Given the description of an element on the screen output the (x, y) to click on. 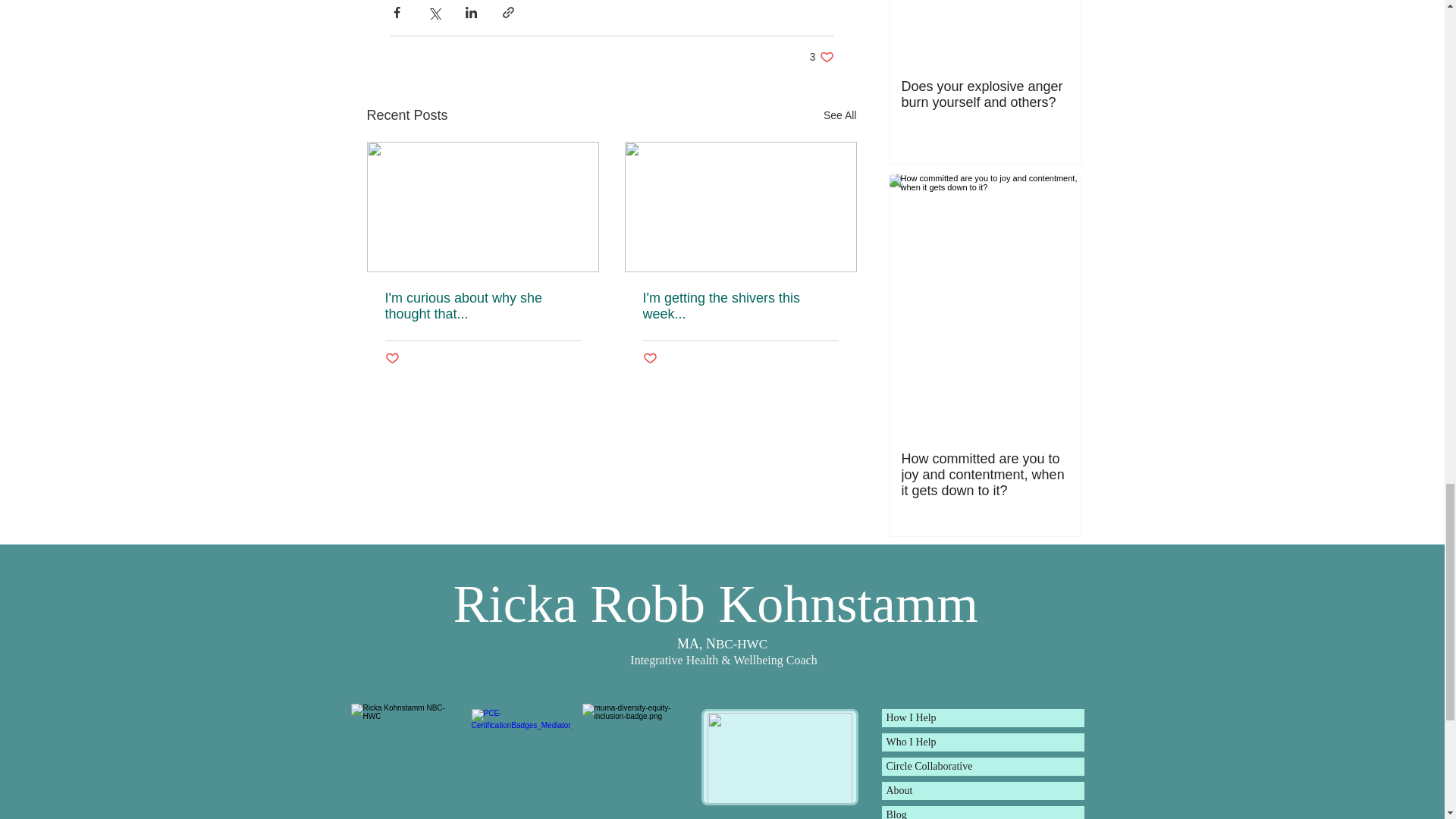
Post not marked as liked (821, 56)
I'm getting the shivers this week... (391, 358)
See All (740, 306)
Planin Change Certified (840, 115)
Does your explosive anger burn yourself and others? (521, 759)
Diversity, Equity, and Inclusion inthe Workplce (984, 94)
Assessing and Treating Sex Issues in Psychotherapy - Level 1 (637, 758)
Post not marked as liked (778, 758)
